Given the description of an element on the screen output the (x, y) to click on. 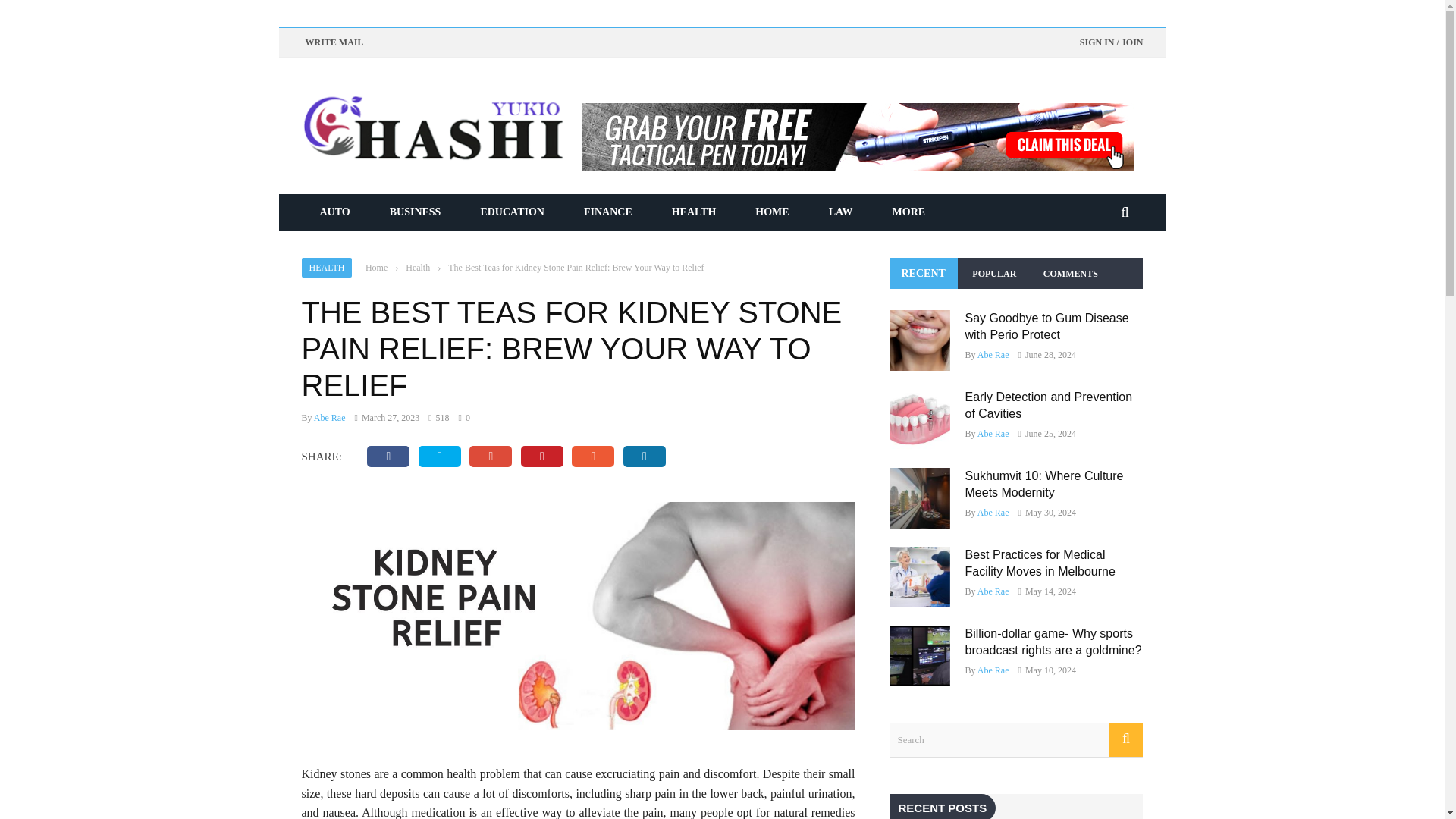
Home (376, 267)
Search (1015, 739)
Abe Rae (330, 417)
Health (417, 267)
WRITE MAIL (333, 41)
LAW (840, 211)
HEALTH (326, 267)
HEALTH (694, 211)
BUSINESS (415, 211)
EDUCATION (511, 211)
